Given the description of an element on the screen output the (x, y) to click on. 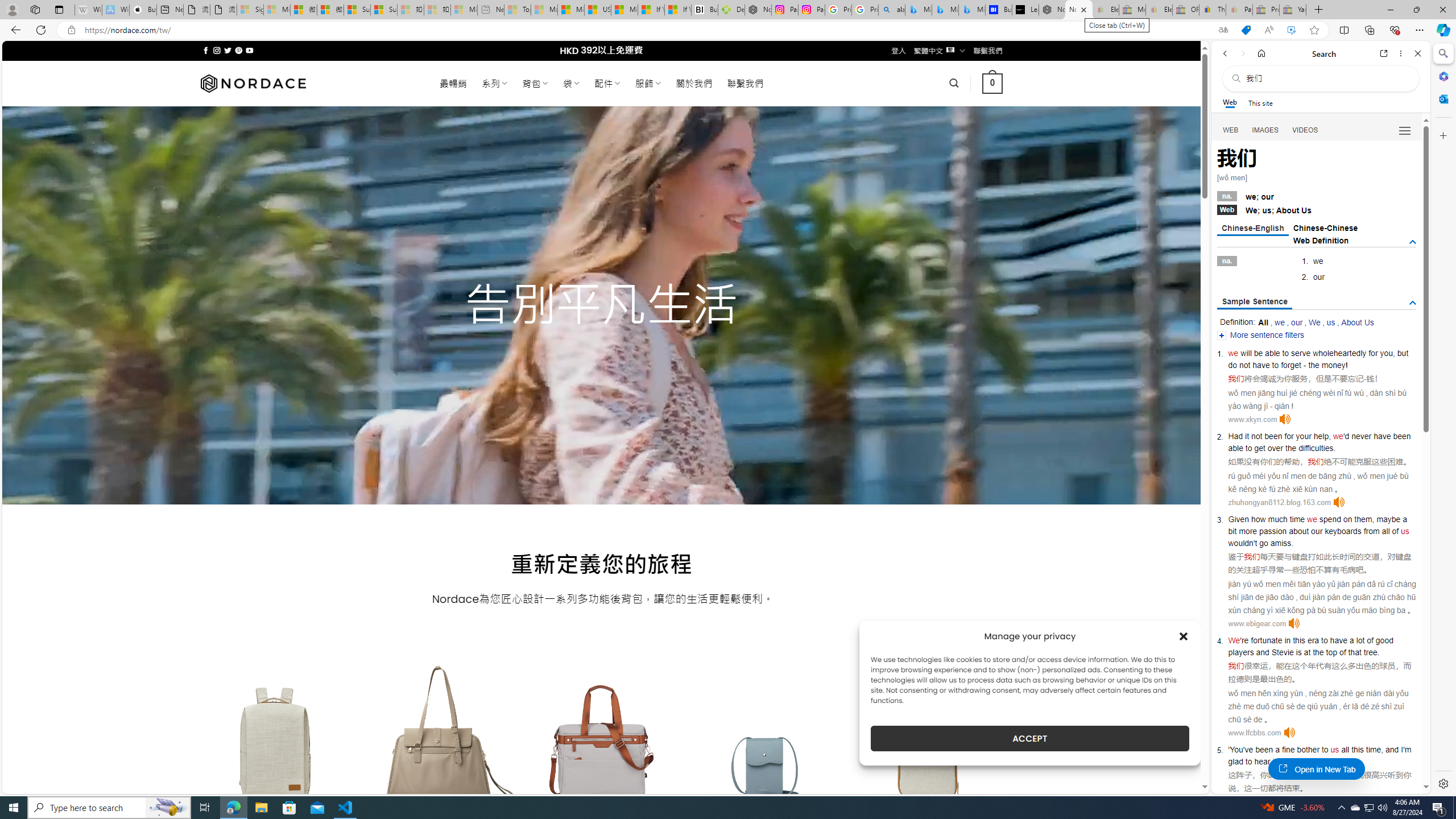
You (1236, 749)
glad (1235, 760)
' (1228, 749)
WEB (1231, 130)
players (1240, 651)
